Given the description of an element on the screen output the (x, y) to click on. 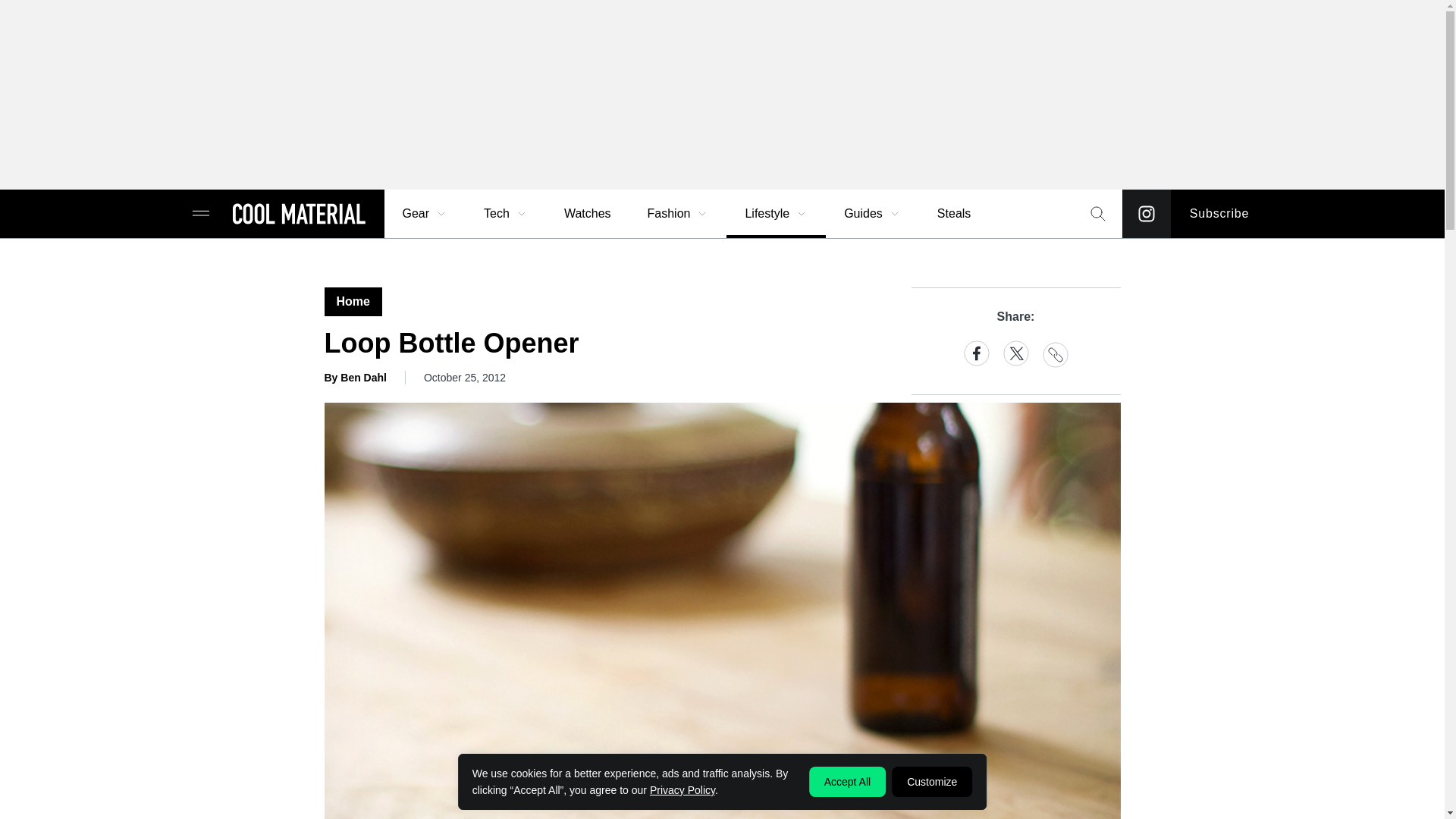
Tech (505, 213)
Gear (424, 213)
Privacy Policy (681, 789)
Fashion (677, 213)
Watches (587, 213)
Accept All (847, 781)
Lifestyle (775, 213)
Customize (931, 781)
